Given the description of an element on the screen output the (x, y) to click on. 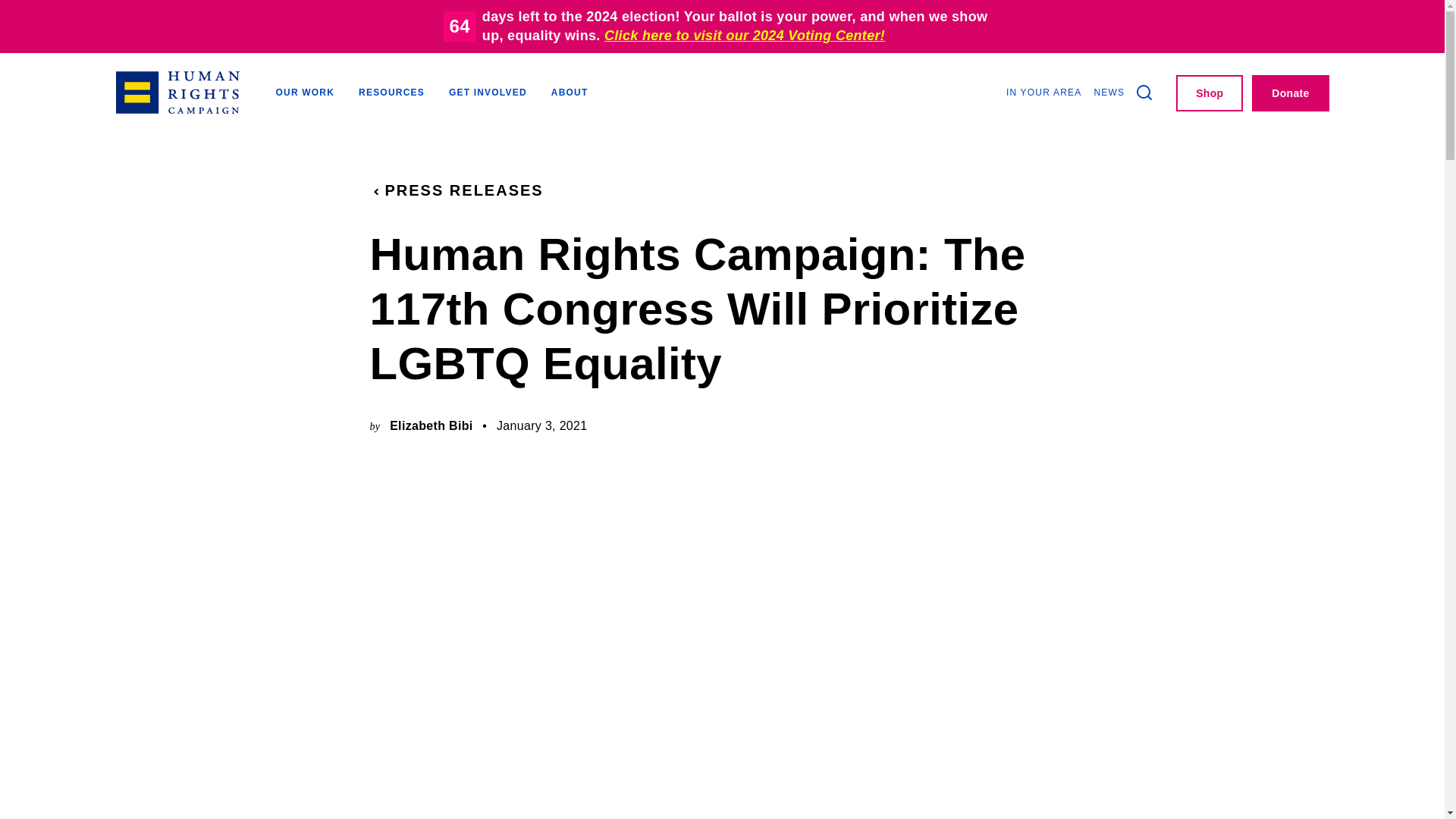
RESOURCES (391, 93)
IN YOUR AREA (1043, 92)
Click here to visit our 2024 Voting Center! (744, 35)
SEARCH (1144, 92)
Donate (1289, 93)
Shop (1209, 93)
OUR WORK (305, 93)
PRESS RELEASES (456, 190)
Human Rights Campaign (176, 92)
GET INVOLVED (487, 93)
